Given the description of an element on the screen output the (x, y) to click on. 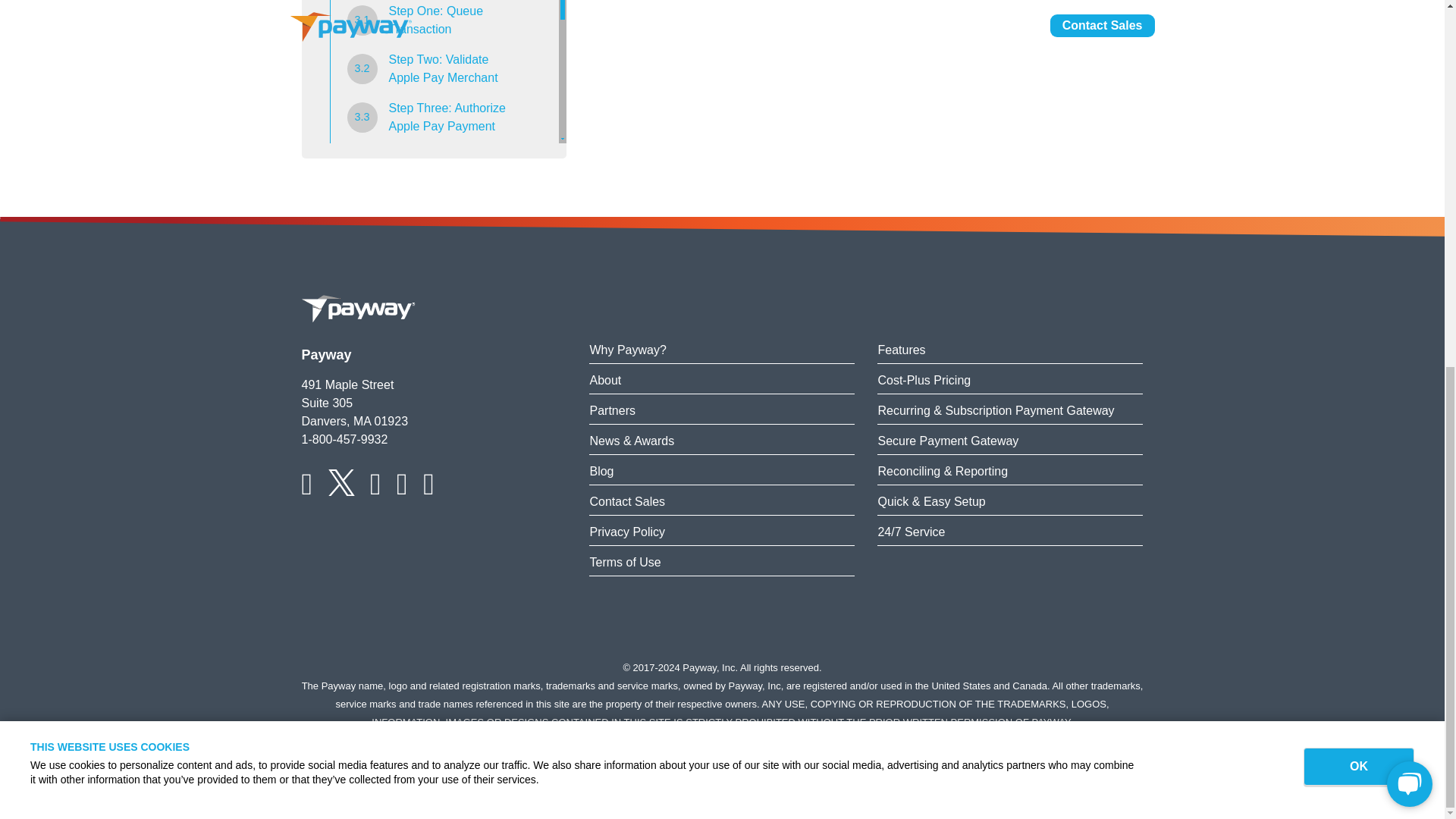
OK (1358, 104)
